Given the description of an element on the screen output the (x, y) to click on. 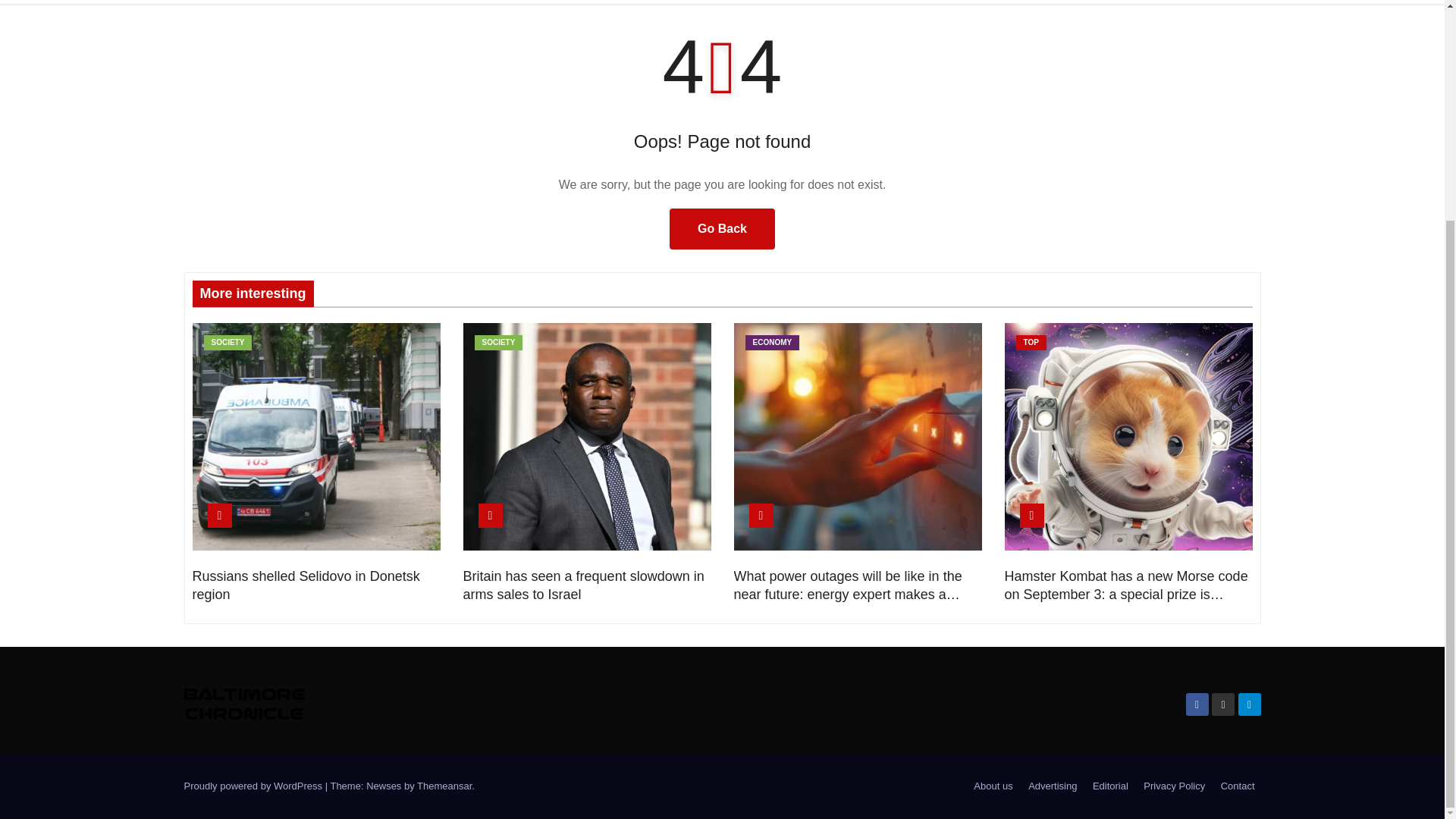
SOCIETY (227, 342)
SOCIETY (498, 342)
Permalink to: Russians shelled Selidovo in Donetsk region (306, 584)
Contact (1237, 786)
About us (992, 786)
Editorial (1110, 786)
Advertising (1052, 786)
